Given the description of an element on the screen output the (x, y) to click on. 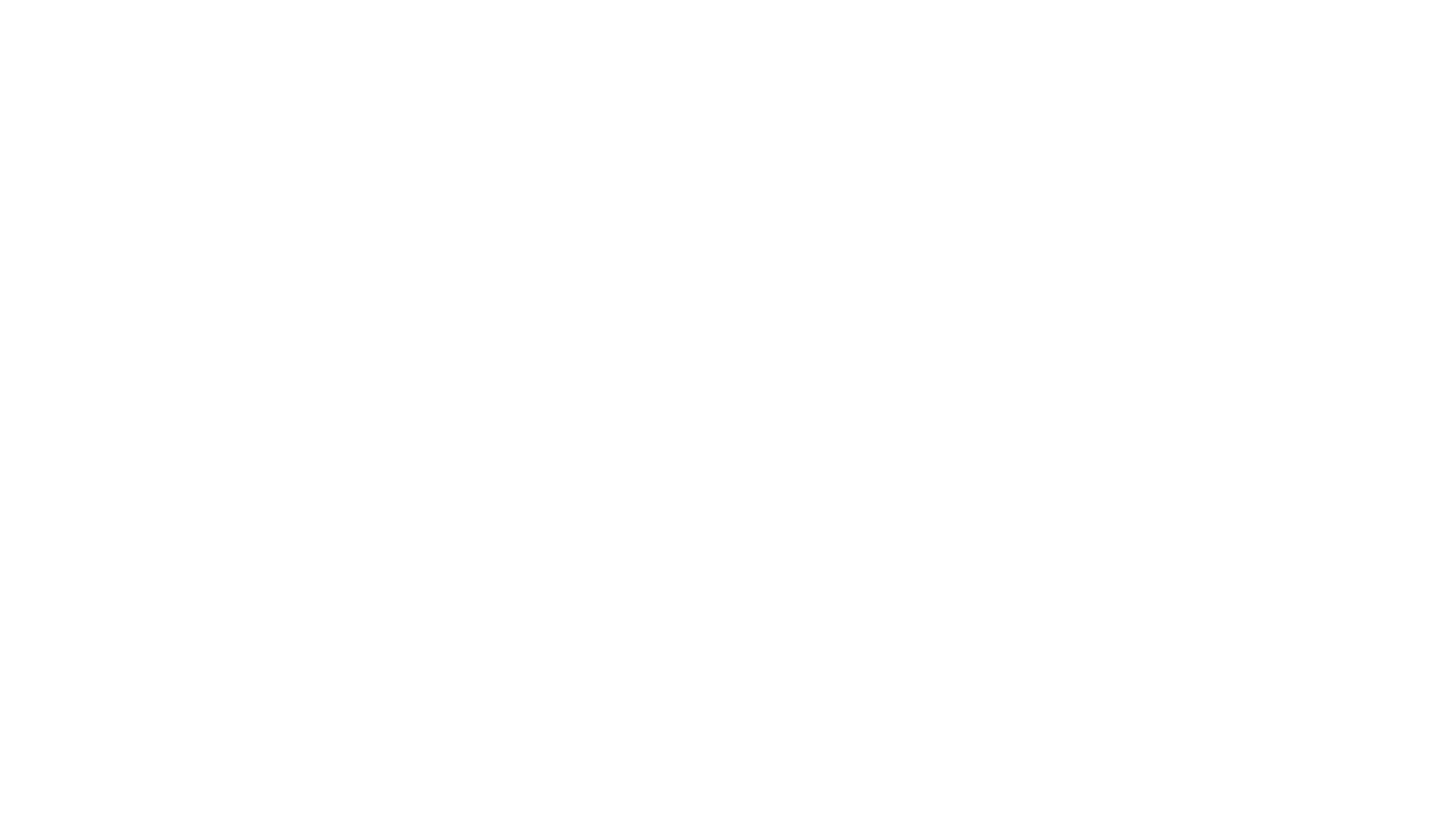
Search Element type: text (260, 236)
